Given the description of an element on the screen output the (x, y) to click on. 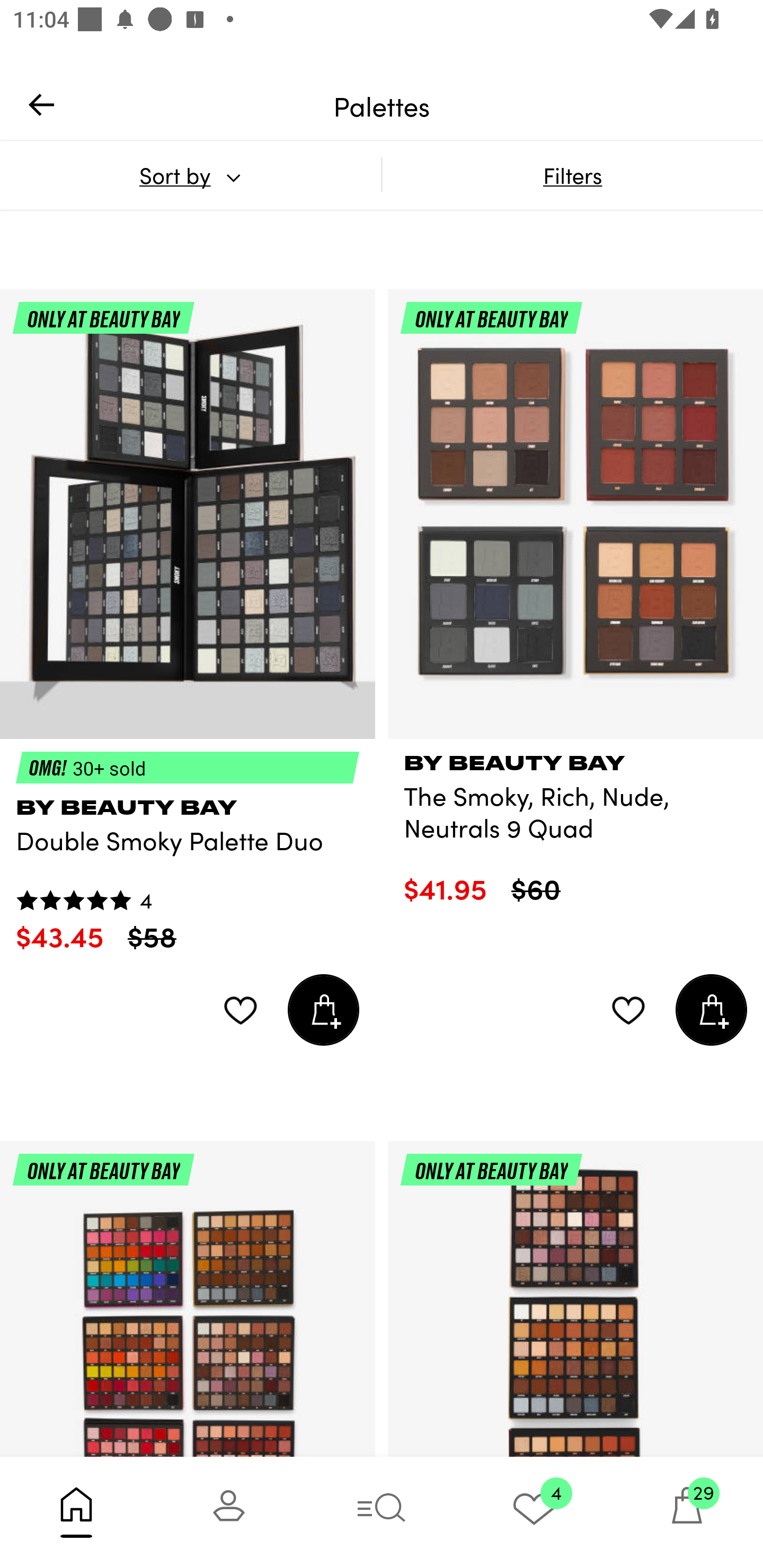
Sort by (190, 174)
Filters (572, 174)
4 (533, 1512)
29 (686, 1512)
